Given the description of an element on the screen output the (x, y) to click on. 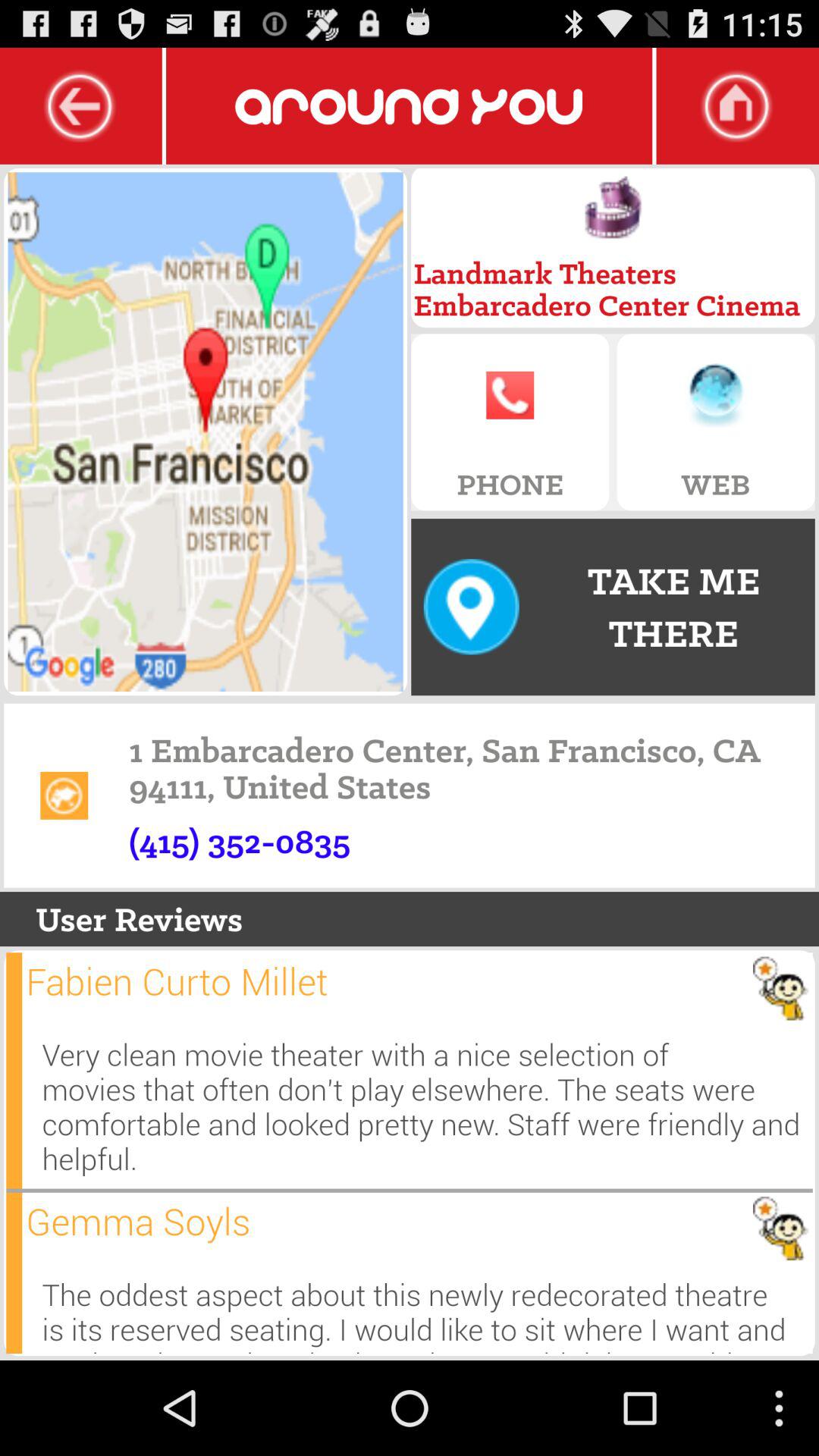
select app above very clean movie icon (177, 980)
